Given the description of an element on the screen output the (x, y) to click on. 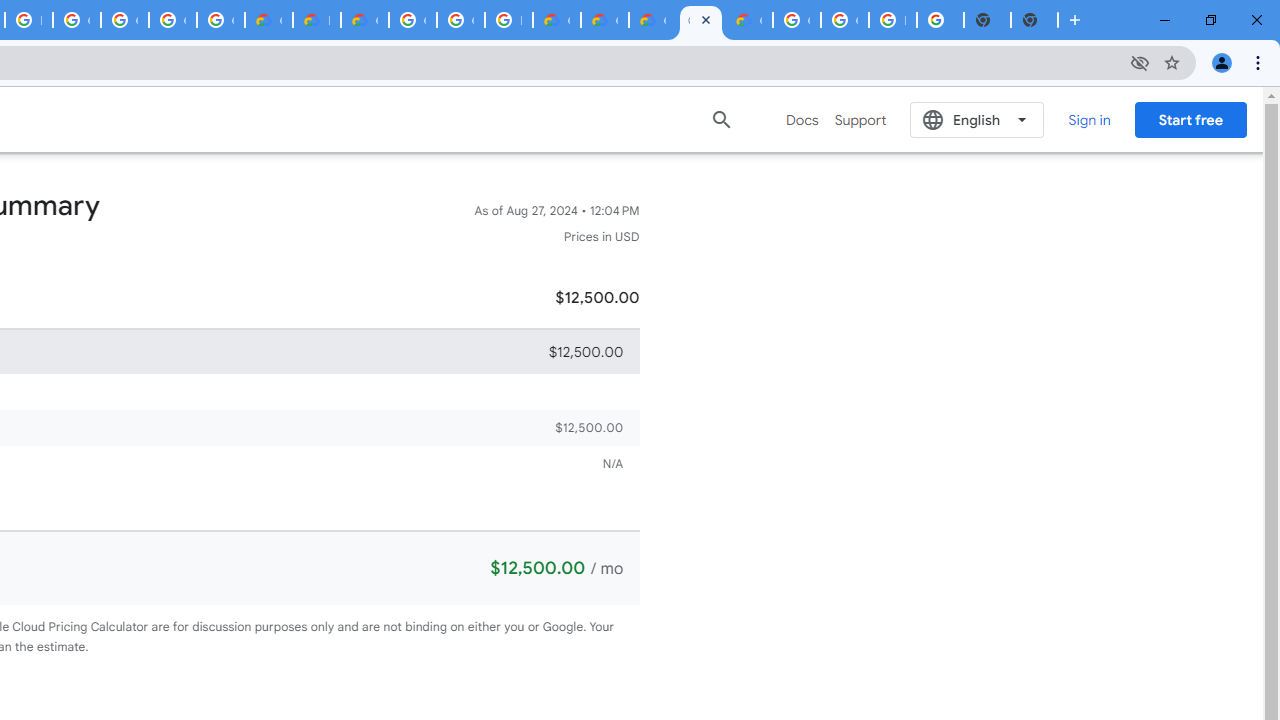
Customer Care | Google Cloud (268, 20)
New Tab (1034, 20)
Google Cloud Platform (796, 20)
